Given the description of an element on the screen output the (x, y) to click on. 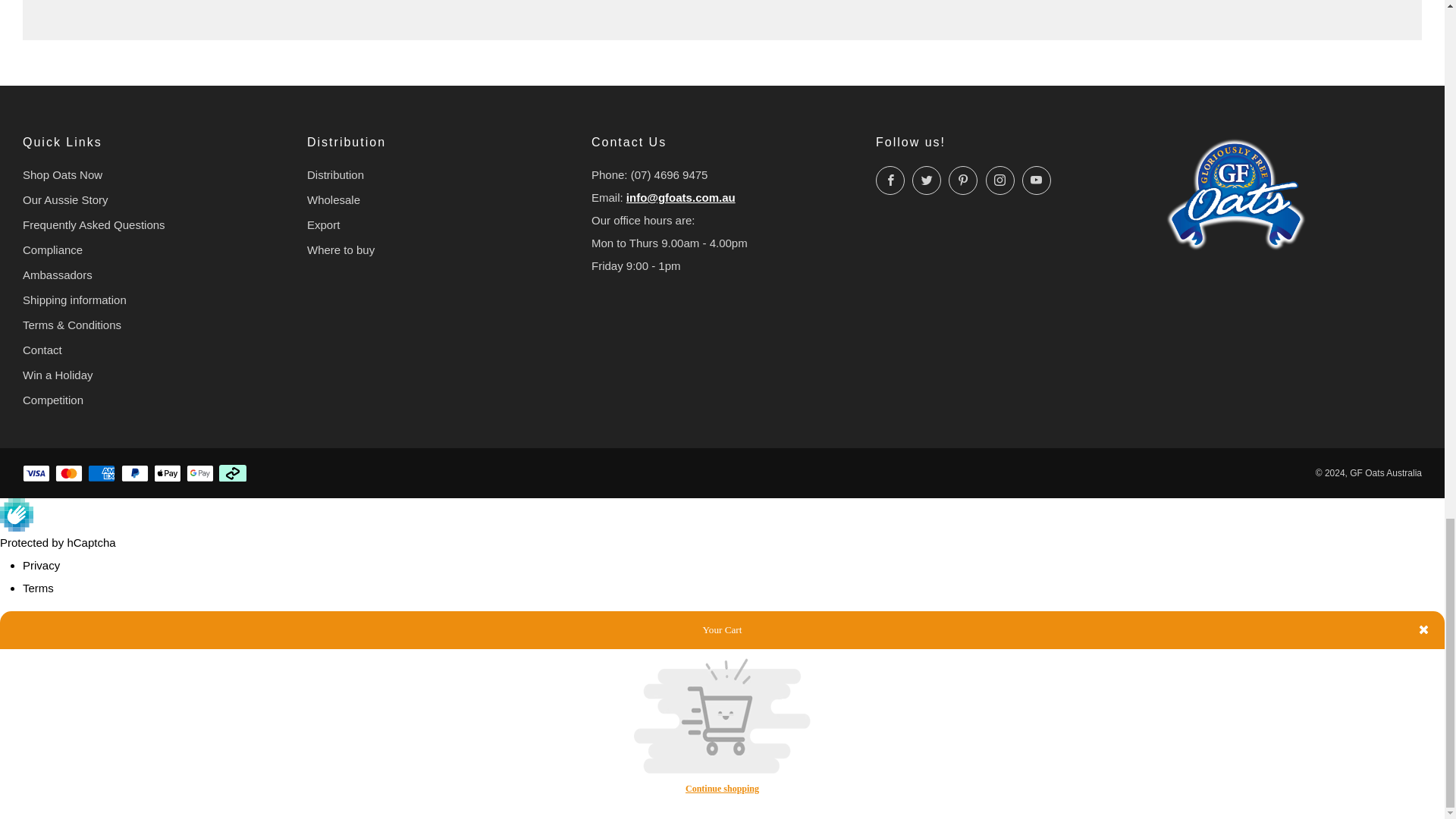
Afterpay (232, 473)
Mastercard (68, 473)
Visa (36, 473)
PayPal (134, 473)
Apple Pay (167, 473)
Google Pay (200, 473)
American Express (101, 473)
